Given the description of an element on the screen output the (x, y) to click on. 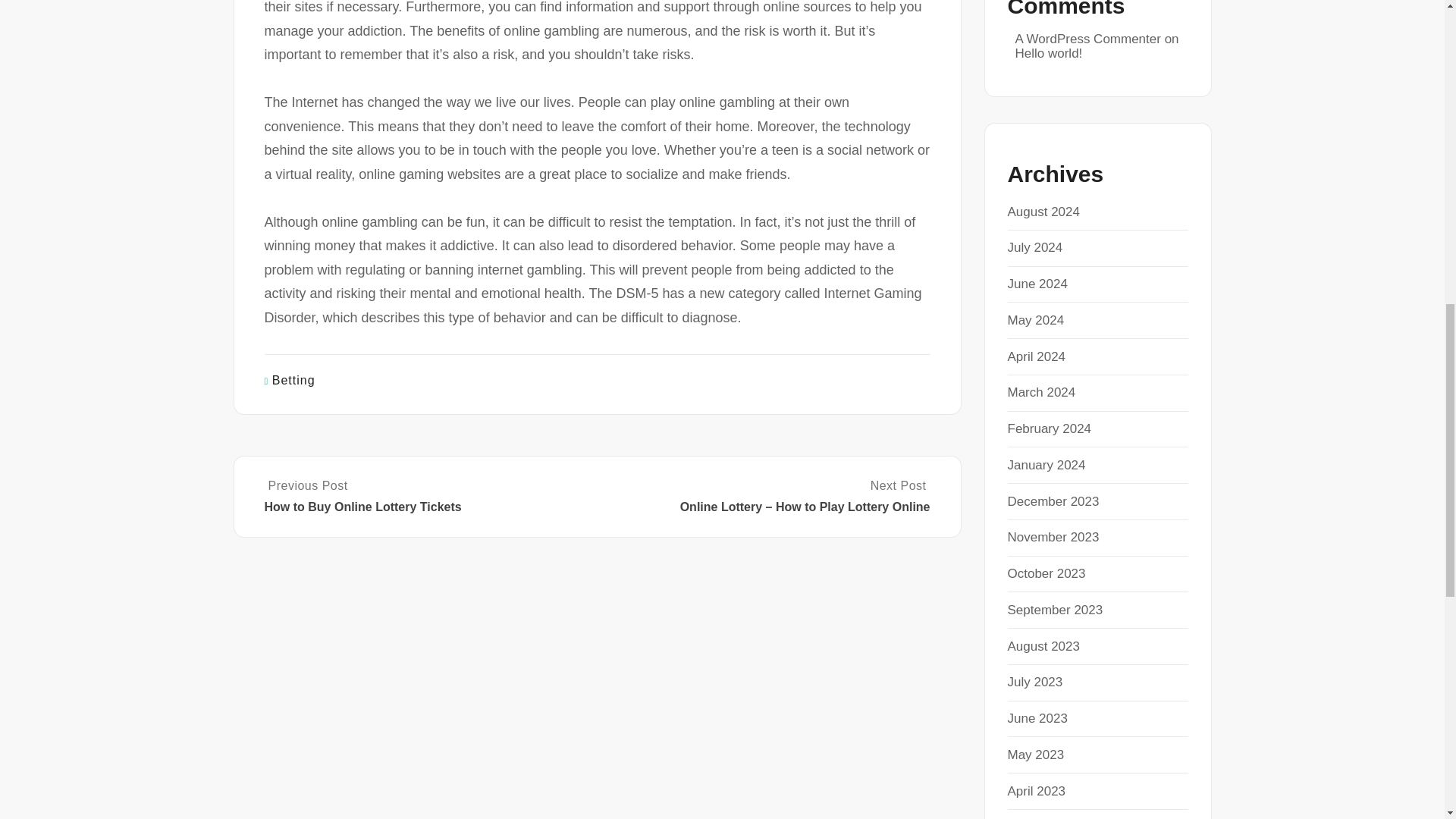
January 2024 (1045, 464)
November 2023 (1053, 536)
Betting (293, 379)
March 2024 (1041, 391)
February 2024 (1048, 428)
October 2023 (1045, 573)
December 2023 (1053, 501)
June 2024 (1037, 283)
A WordPress Commenter (1087, 38)
September 2023 (1054, 609)
